Given the description of an element on the screen output the (x, y) to click on. 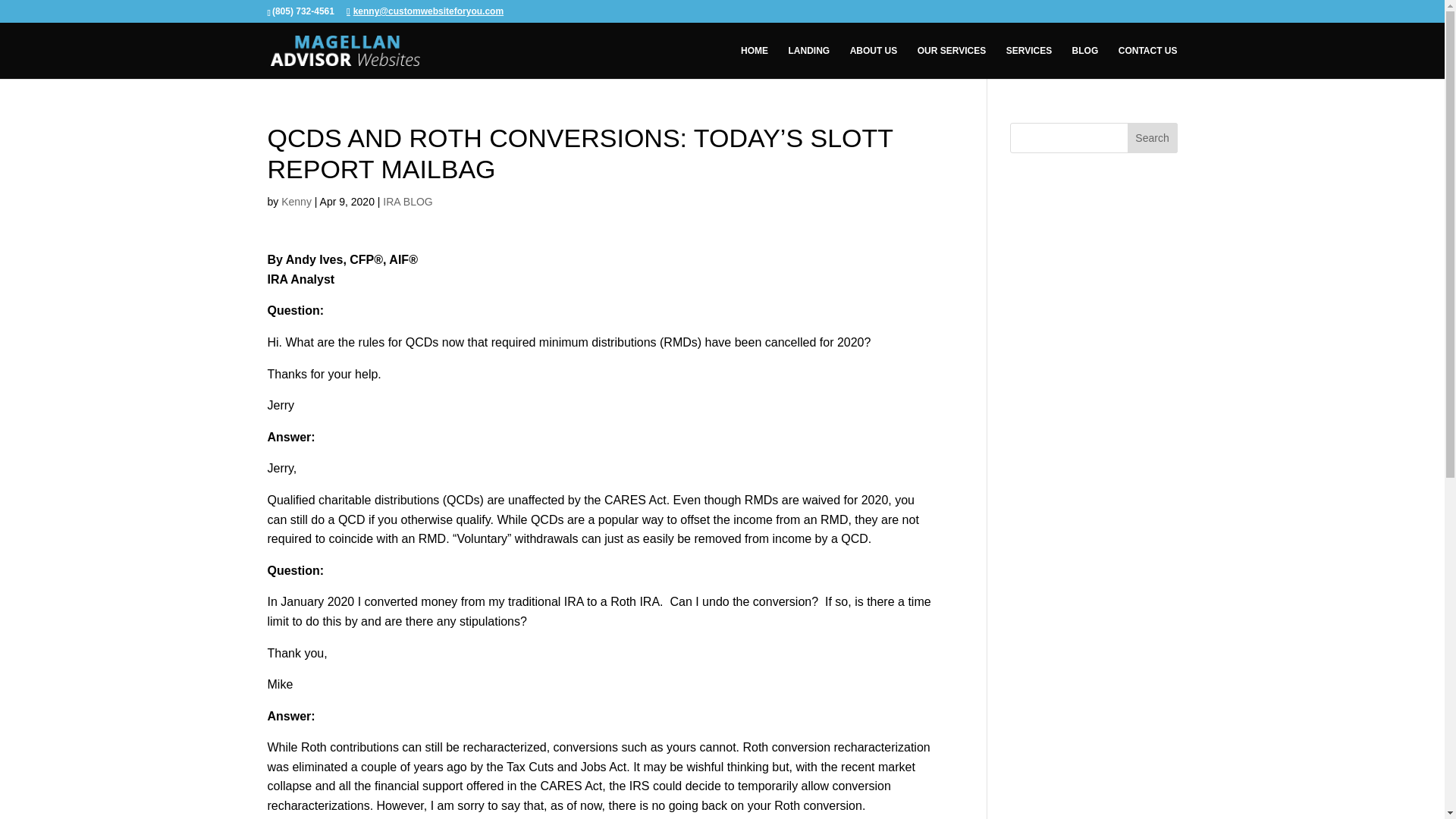
Posts by Kenny (296, 201)
LANDING (809, 61)
Search (1151, 137)
Search (1151, 137)
HOME (754, 61)
OUR SERVICES (951, 61)
ABOUT US (874, 61)
BLOG (1085, 61)
CONTACT US (1147, 61)
SERVICES (1028, 61)
IRA BLOG (407, 201)
Kenny (296, 201)
